Given the description of an element on the screen output the (x, y) to click on. 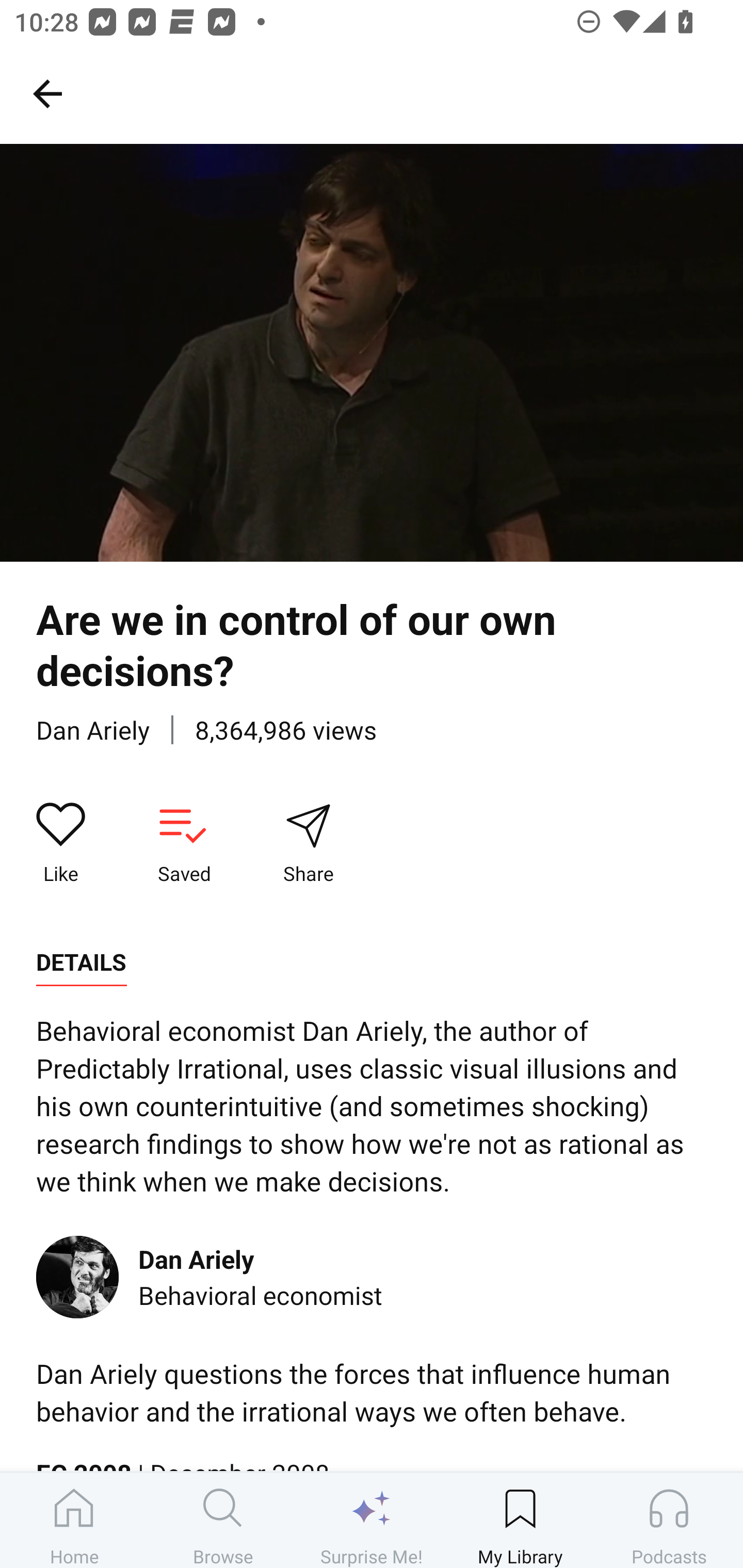
My Library, back (47, 92)
Like (60, 843)
Saved (183, 843)
Share (308, 843)
DETAILS (80, 962)
Home (74, 1520)
Browse (222, 1520)
Surprise Me! (371, 1520)
My Library (519, 1520)
Podcasts (668, 1520)
